Given the description of an element on the screen output the (x, y) to click on. 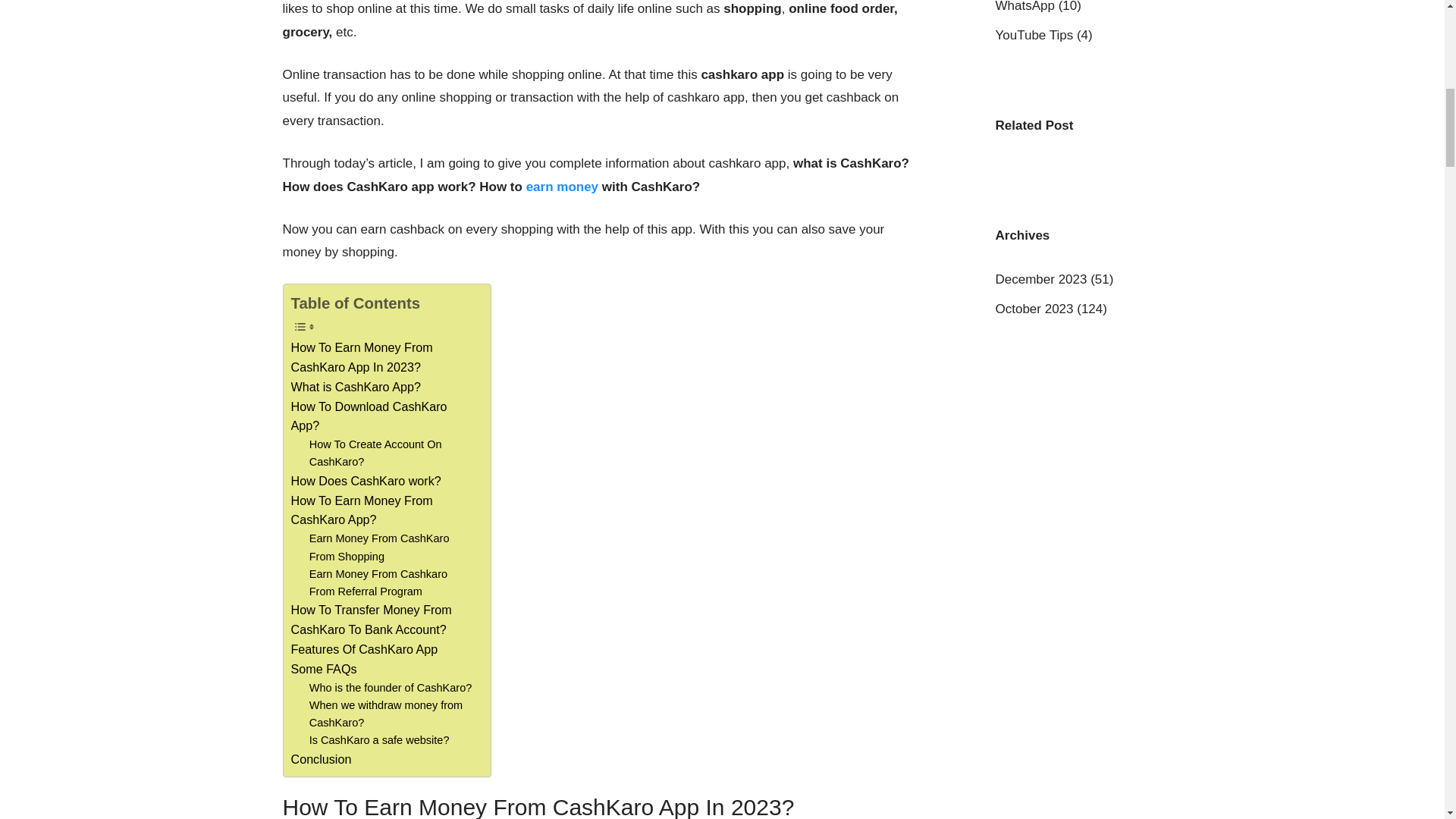
How To Transfer Money From CashKaro To Bank Account? (383, 619)
How Does CashKaro work? (366, 481)
How To Create Account On CashKaro? (392, 453)
Earn Money From CashKaro From Shopping (392, 547)
How Does CashKaro work? (366, 481)
Earn Money From Cashkaro From Referral Program (392, 583)
What is CashKaro App? (355, 387)
Earn Money From Cashkaro From Referral Program (392, 583)
How To Earn Money From CashKaro App In 2023? (383, 357)
Features Of CashKaro App (364, 649)
